Given the description of an element on the screen output the (x, y) to click on. 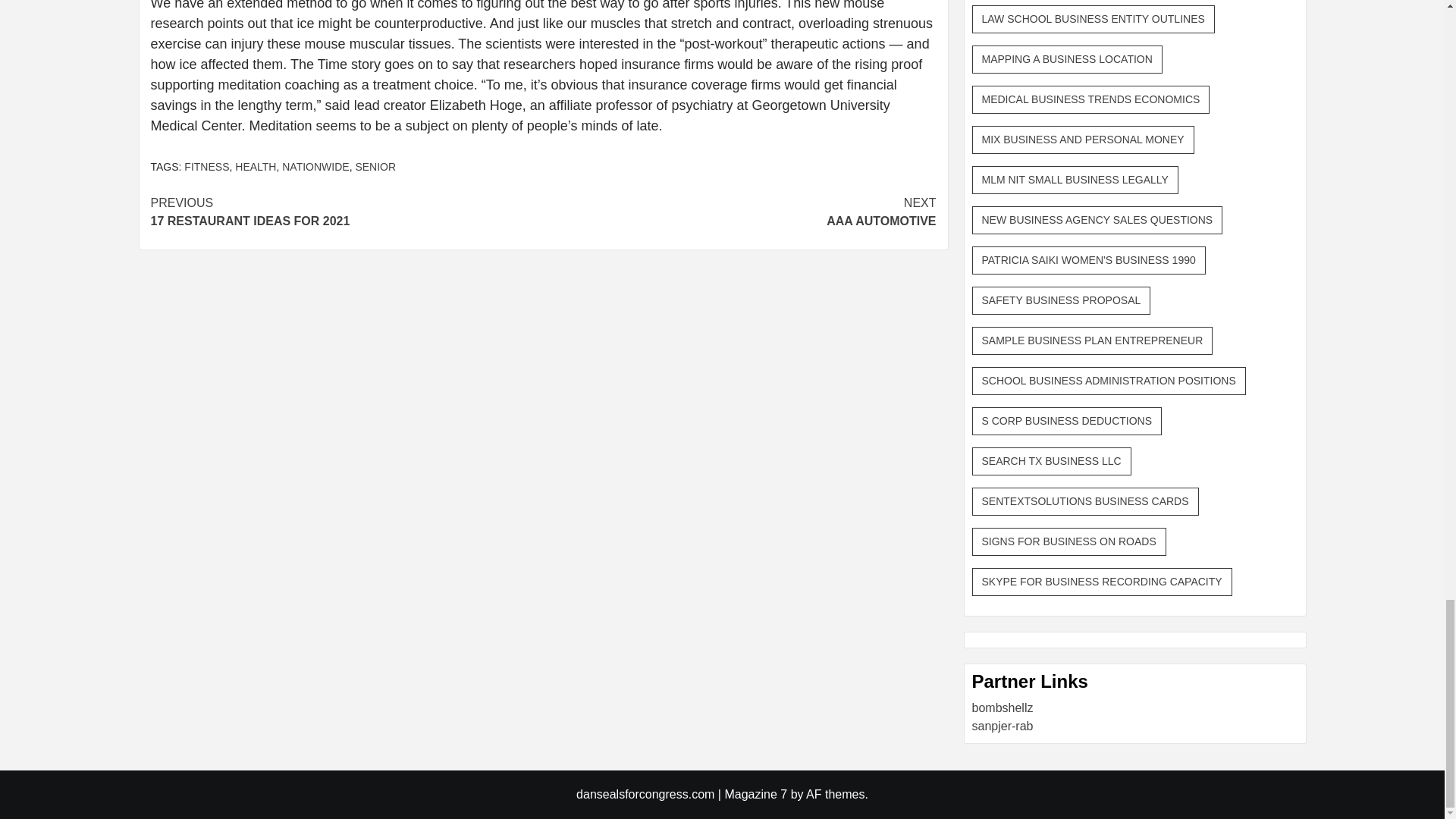
NATIONWIDE (315, 166)
SENIOR (346, 212)
FITNESS (375, 166)
HEALTH (739, 212)
